Given the description of an element on the screen output the (x, y) to click on. 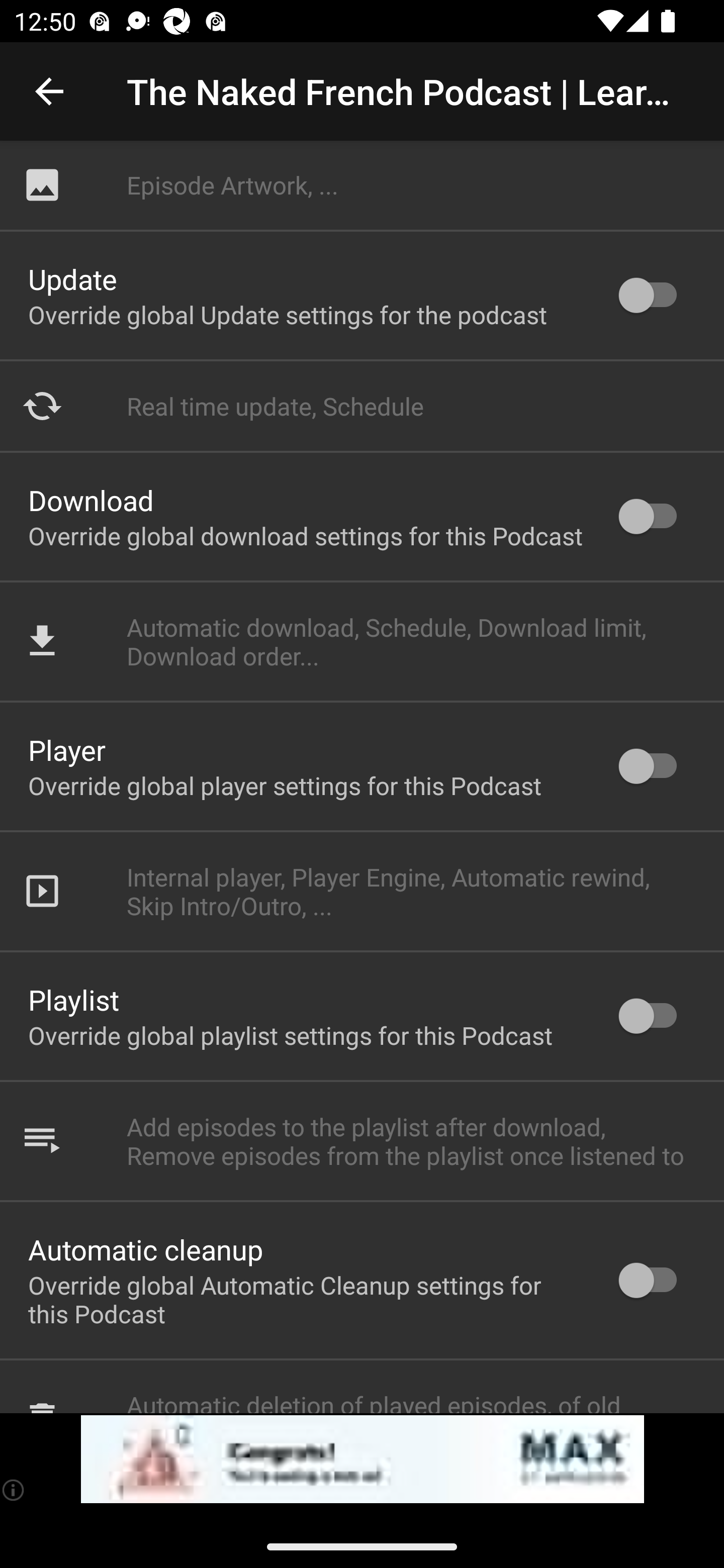
Navigate up (49, 91)
Episode Artwork, ... (362, 184)
Real time update, Schedule (362, 405)
app-monetization (362, 1459)
(i) (14, 1489)
